Given the description of an element on the screen output the (x, y) to click on. 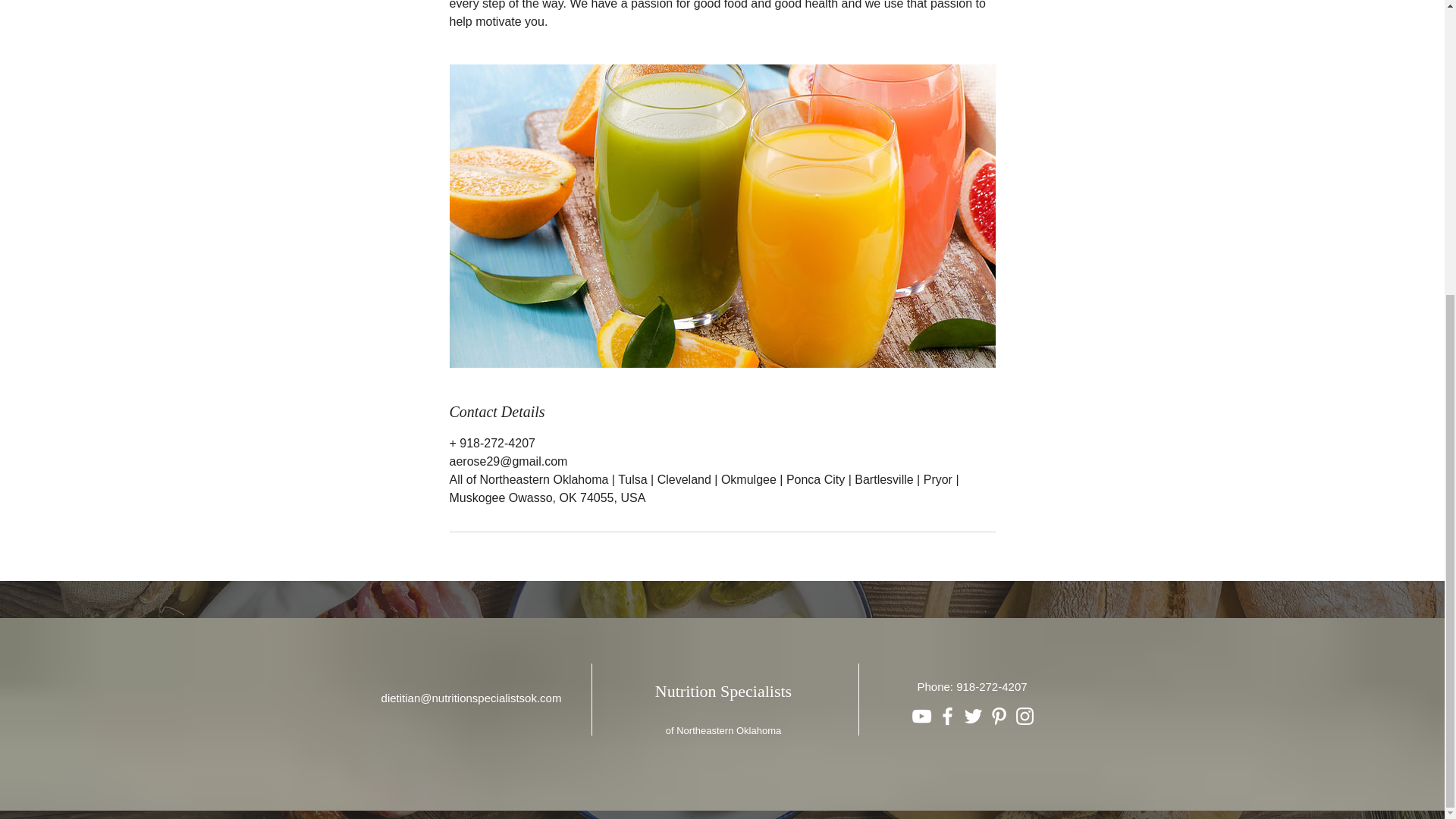
Nutrition Specialists (723, 691)
of Northeastern Oklahoma (722, 730)
